Given the description of an element on the screen output the (x, y) to click on. 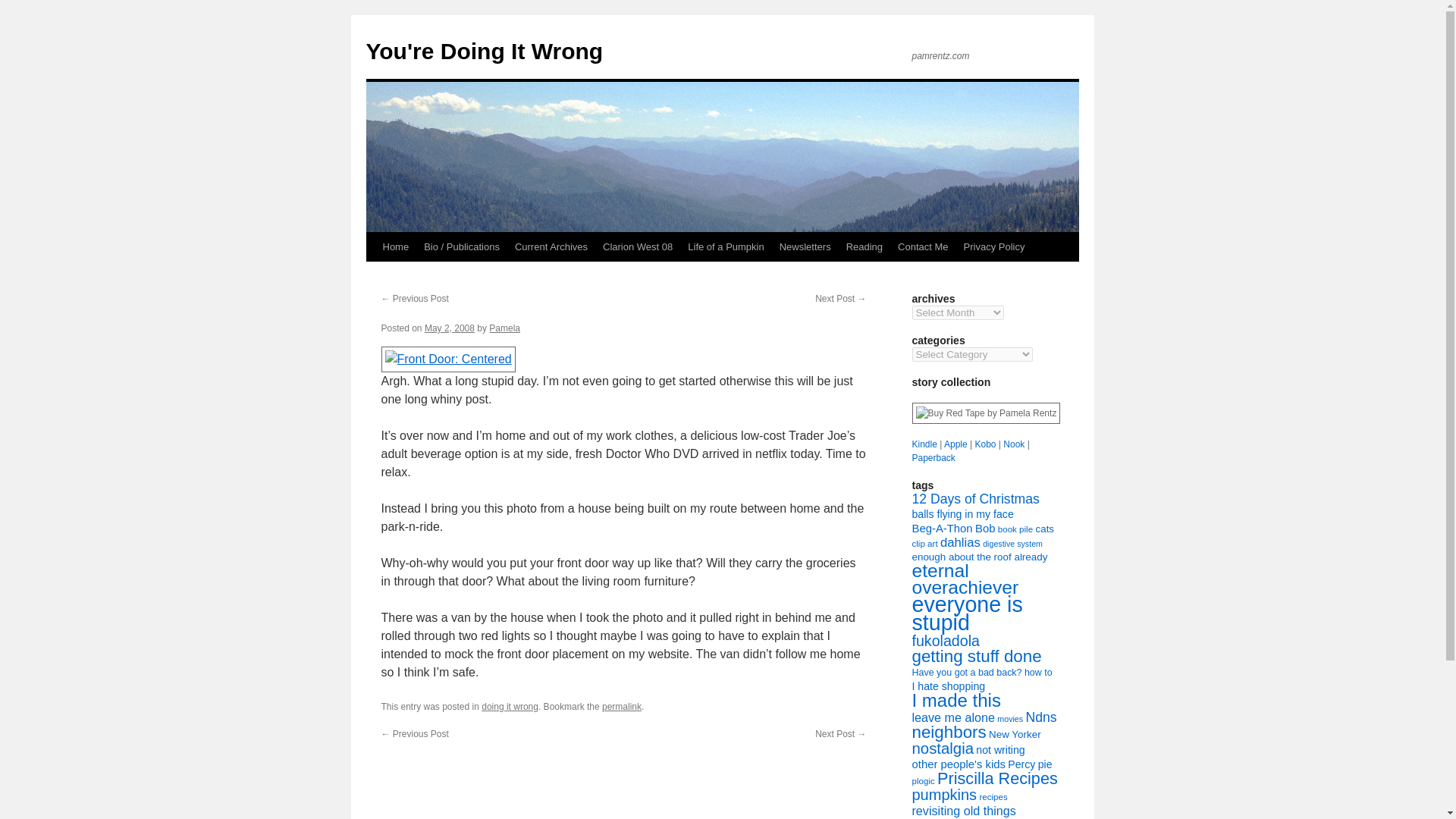
Home (395, 246)
12 Days of Christmas (975, 498)
Apple (955, 443)
Clarion West 08 (637, 246)
May 2, 2008 (449, 327)
clip art (924, 542)
Current Archives (550, 246)
Buy Red Tape by Pamela Rentz (985, 413)
Bob (984, 528)
enough about the roof already (978, 556)
Reading (863, 246)
You're Doing It Wrong (483, 50)
doing it wrong (509, 706)
Nook (1014, 443)
cats (1044, 528)
